Given the description of an element on the screen output the (x, y) to click on. 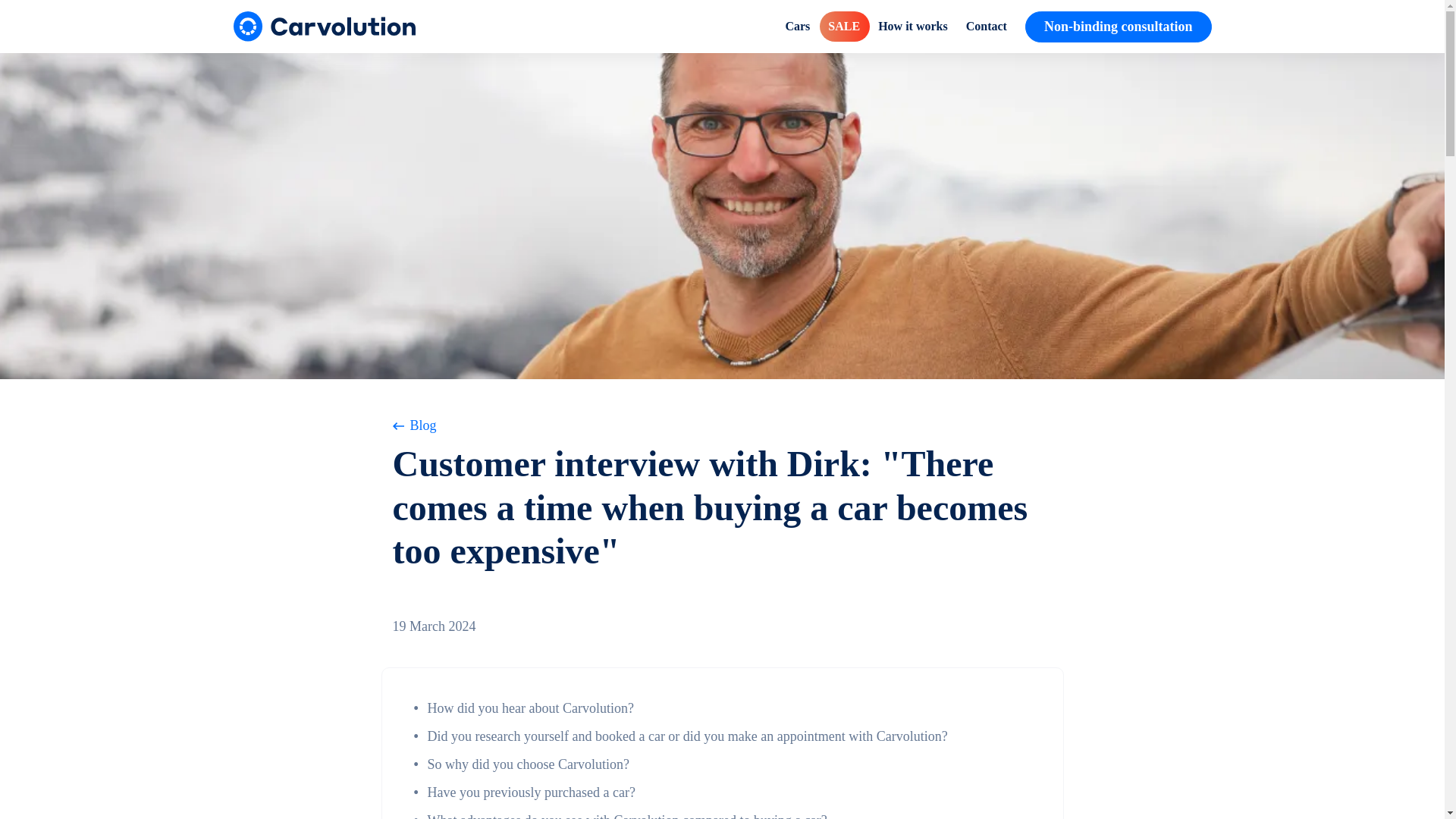
Contact (986, 26)
Blog (722, 425)
So why did you choose Carvolution? (528, 764)
SALE (843, 26)
Non-binding consultation (1118, 25)
Have you previously purchased a car? (531, 792)
How it works (912, 26)
How did you hear about Carvolution? (530, 708)
